Given the description of an element on the screen output the (x, y) to click on. 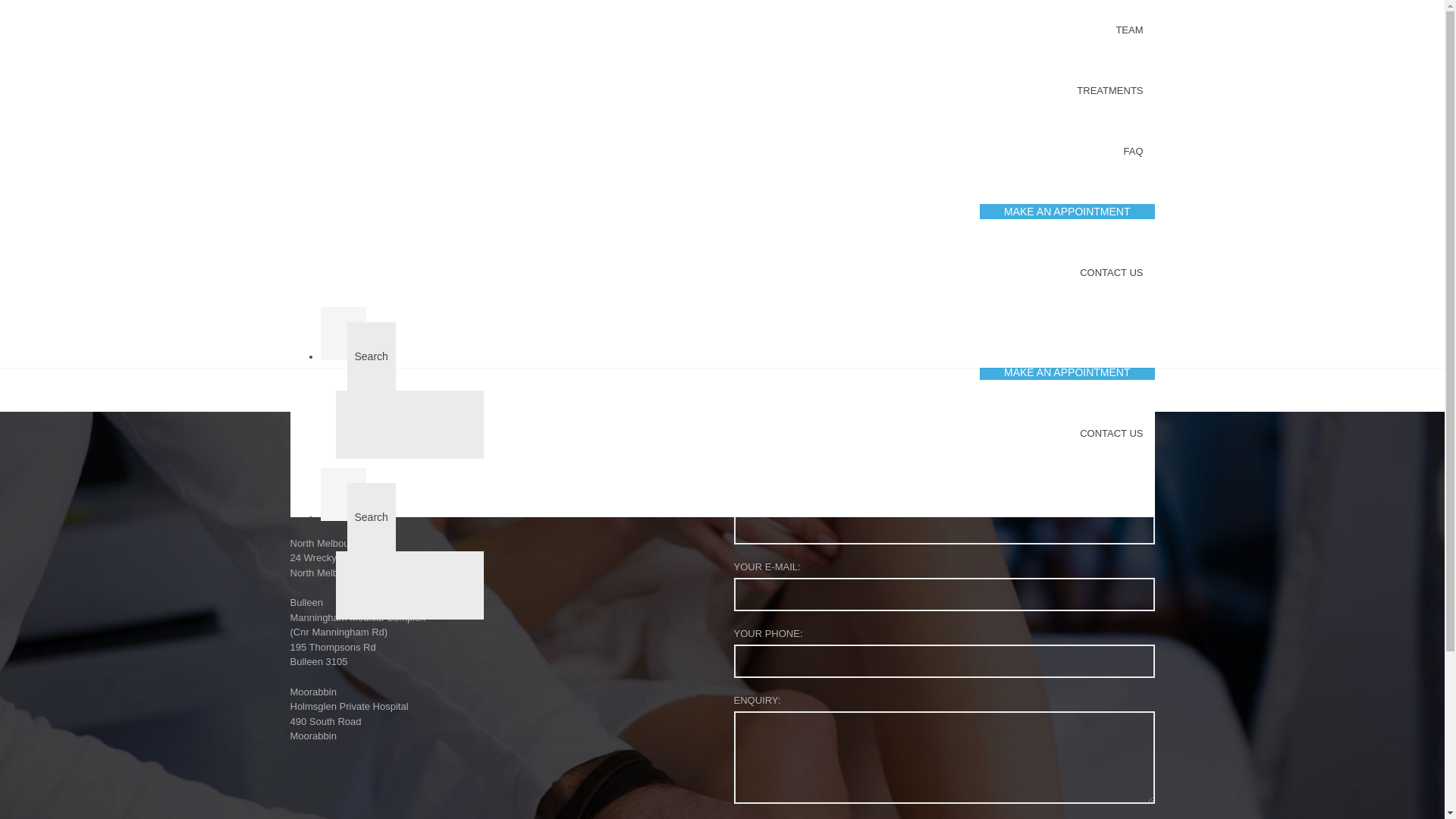
TEAM Element type: text (1129, 190)
HOME Element type: text (1128, 129)
TREATMENTS Element type: text (1109, 90)
Home Element type: text (703, 247)
TREATMENTS Element type: text (1109, 251)
Search Element type: text (371, 517)
TEAM Element type: text (1129, 29)
CONTACT US Element type: text (1111, 272)
CONTACT US Element type: text (1111, 433)
FAQ Element type: text (1132, 311)
FAQ Element type: text (1132, 150)
MAKE AN APPOINTMENT Element type: text (1061, 211)
MAKE AN APPOINTMENT Element type: text (1061, 372)
Search Element type: text (371, 356)
